Given the description of an element on the screen output the (x, y) to click on. 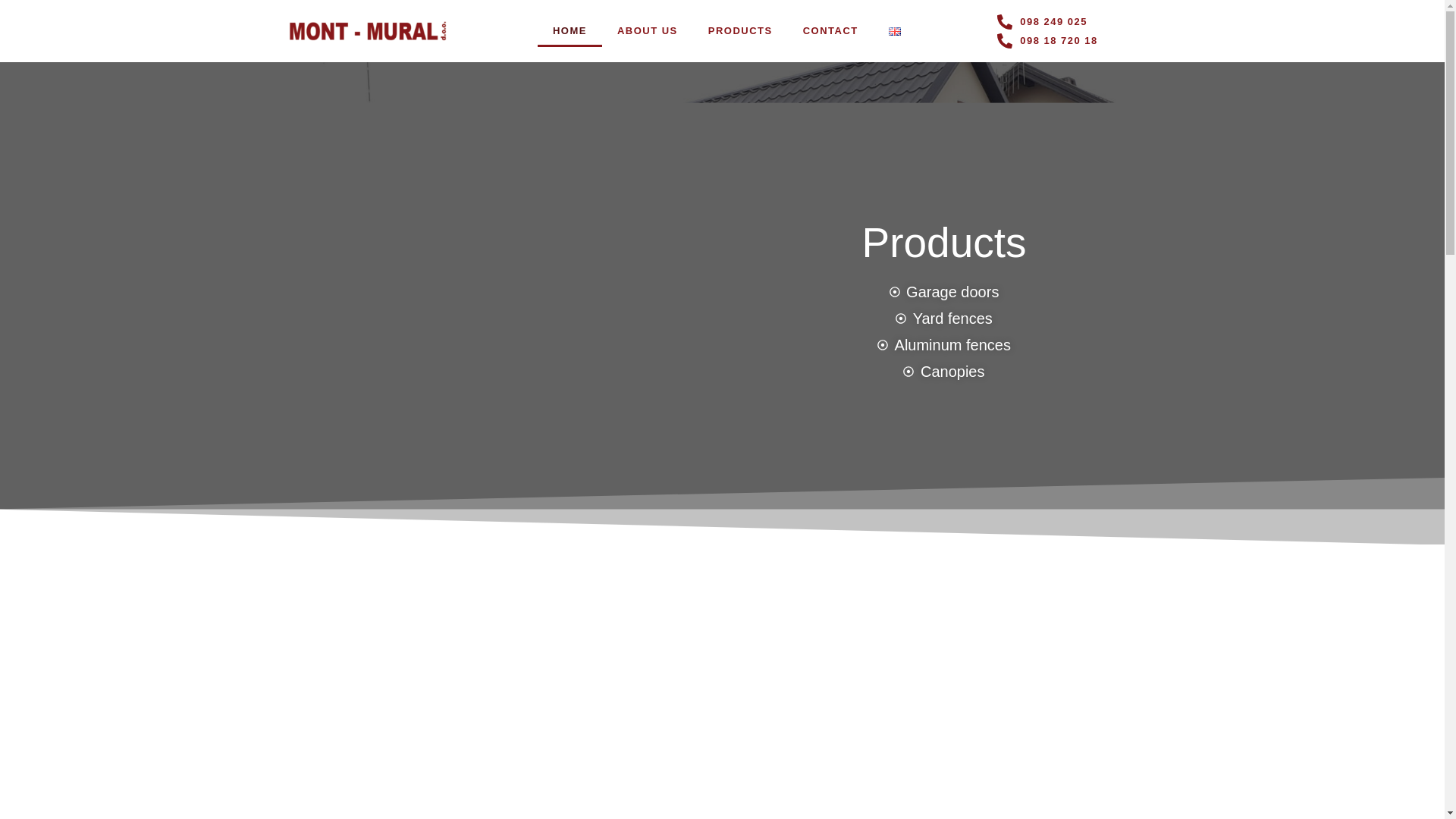
Yard fences (943, 318)
Canopies (943, 371)
HOME (569, 30)
Garage doors (943, 292)
PRODUCTS (740, 30)
Aluminum fences (943, 345)
CONTACT (830, 30)
Products (943, 242)
ABOUT US (647, 30)
